Given the description of an element on the screen output the (x, y) to click on. 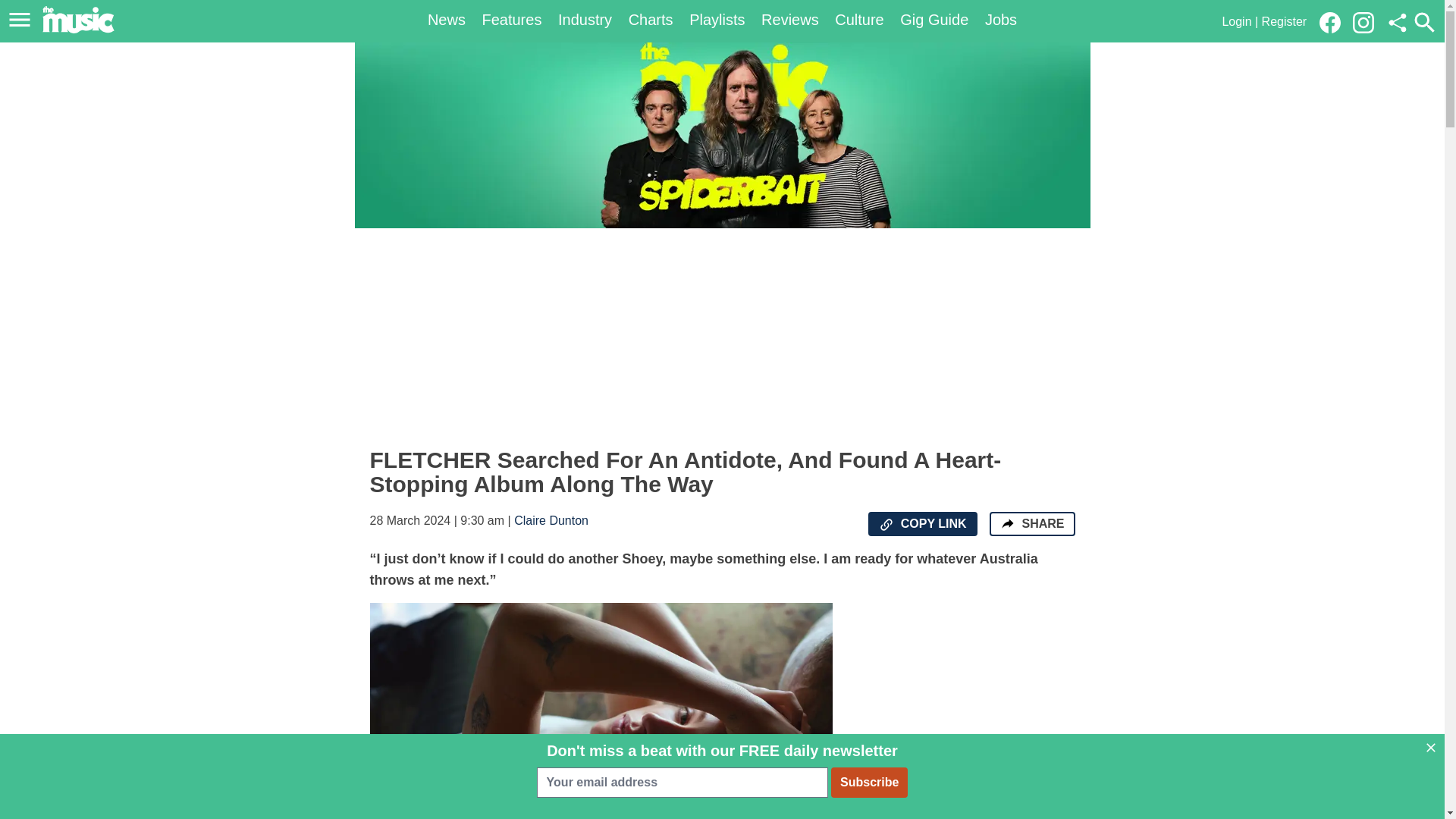
Industry (584, 19)
Open the main menu (22, 19)
Share the page (1007, 522)
News (446, 19)
Copy the page URL (886, 524)
Open the main menu (19, 19)
Open the site search menu (1424, 22)
Link to our Instagram (1367, 21)
Charts (650, 19)
Claire Dunton (550, 520)
Copy the page URL COPY LINK (921, 523)
Features (511, 19)
Link to our Facebook (1329, 22)
Share this page (1397, 22)
Share the page SHARE (1032, 523)
